Given the description of an element on the screen output the (x, y) to click on. 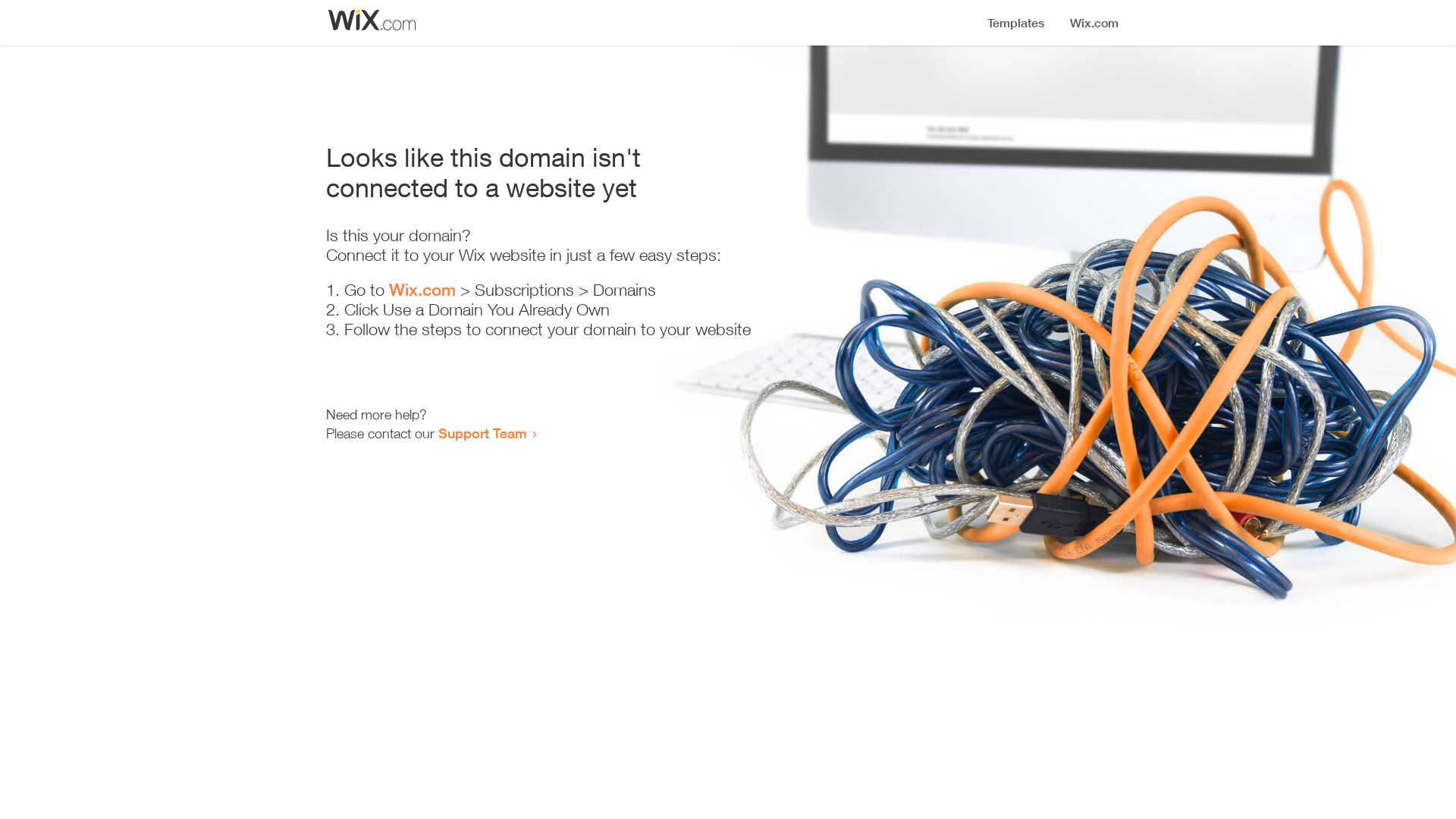
Wix.com Element type: text (422, 289)
Support Team Element type: text (482, 432)
